Given the description of an element on the screen output the (x, y) to click on. 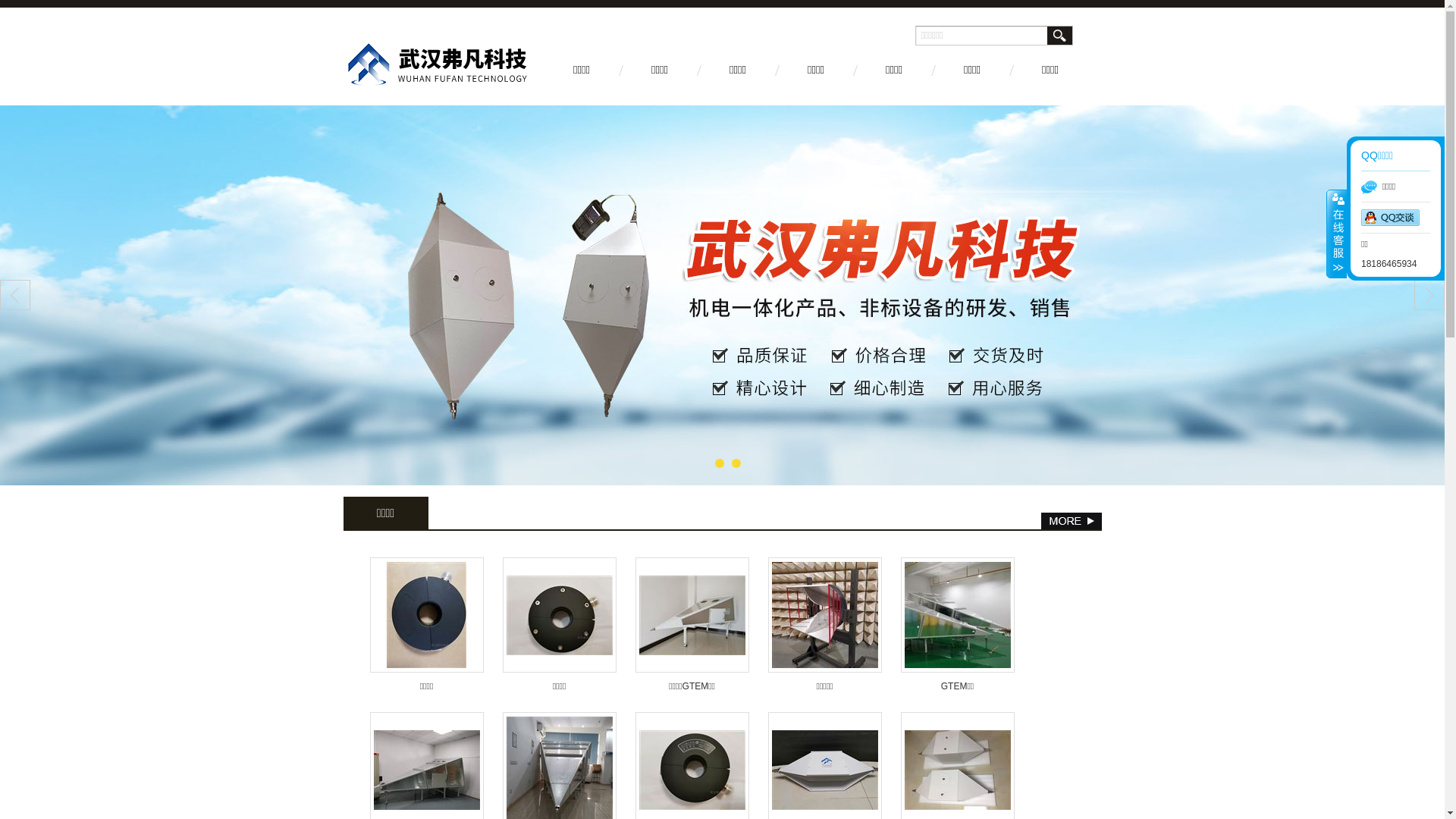
MORE Element type: text (1070, 520)
  Element type: text (1058, 35)
